Given the description of an element on the screen output the (x, y) to click on. 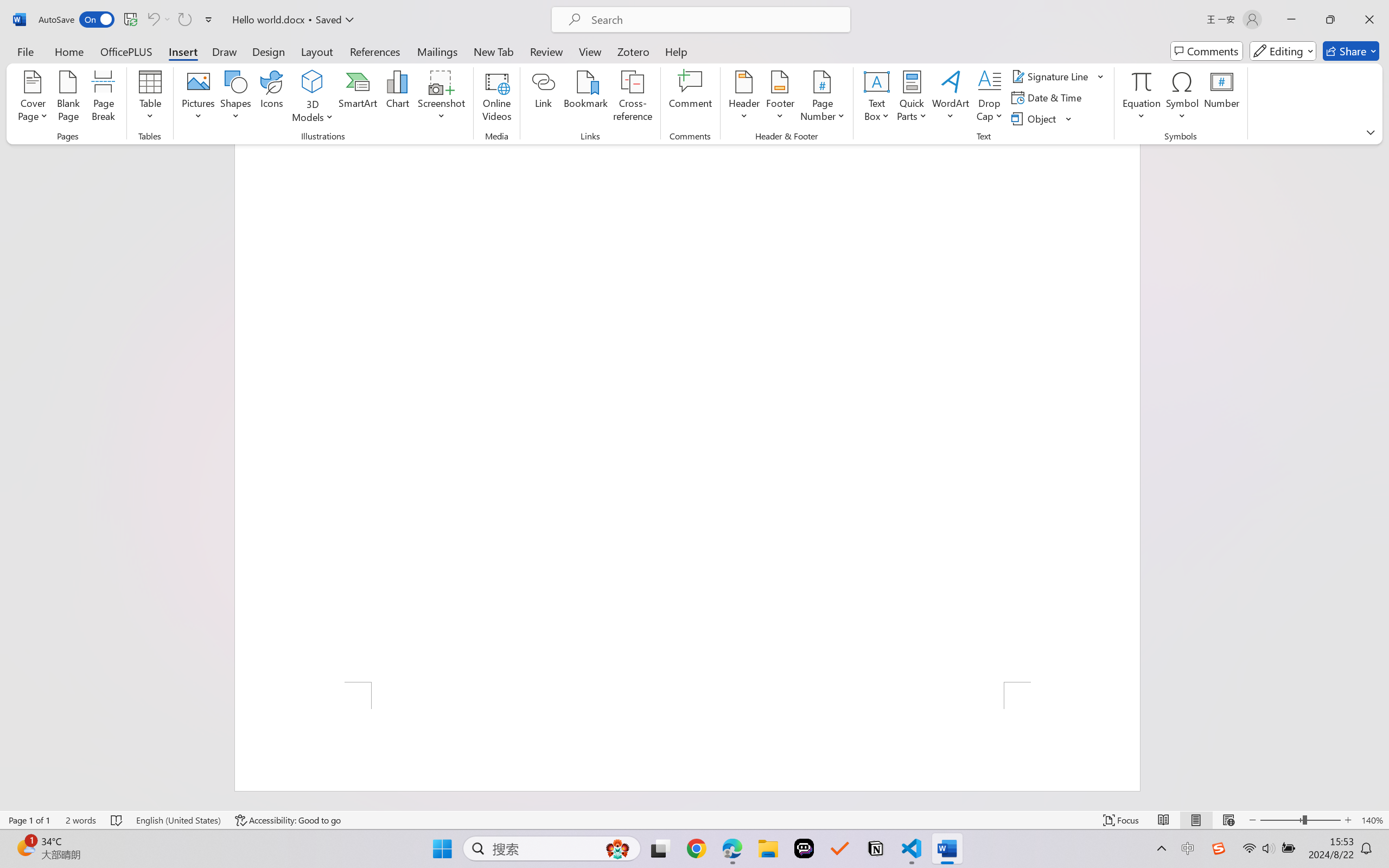
Quick Access Toolbar (127, 19)
New Tab (493, 51)
Design (268, 51)
Zoom Out (1280, 819)
AutomationID: DynamicSearchBoxGleamImage (617, 848)
Help (675, 51)
Share (1350, 51)
AutoSave (76, 19)
Customize Quick Access Toolbar (208, 19)
Google Chrome (696, 848)
Microsoft search (715, 19)
